Given the description of an element on the screen output the (x, y) to click on. 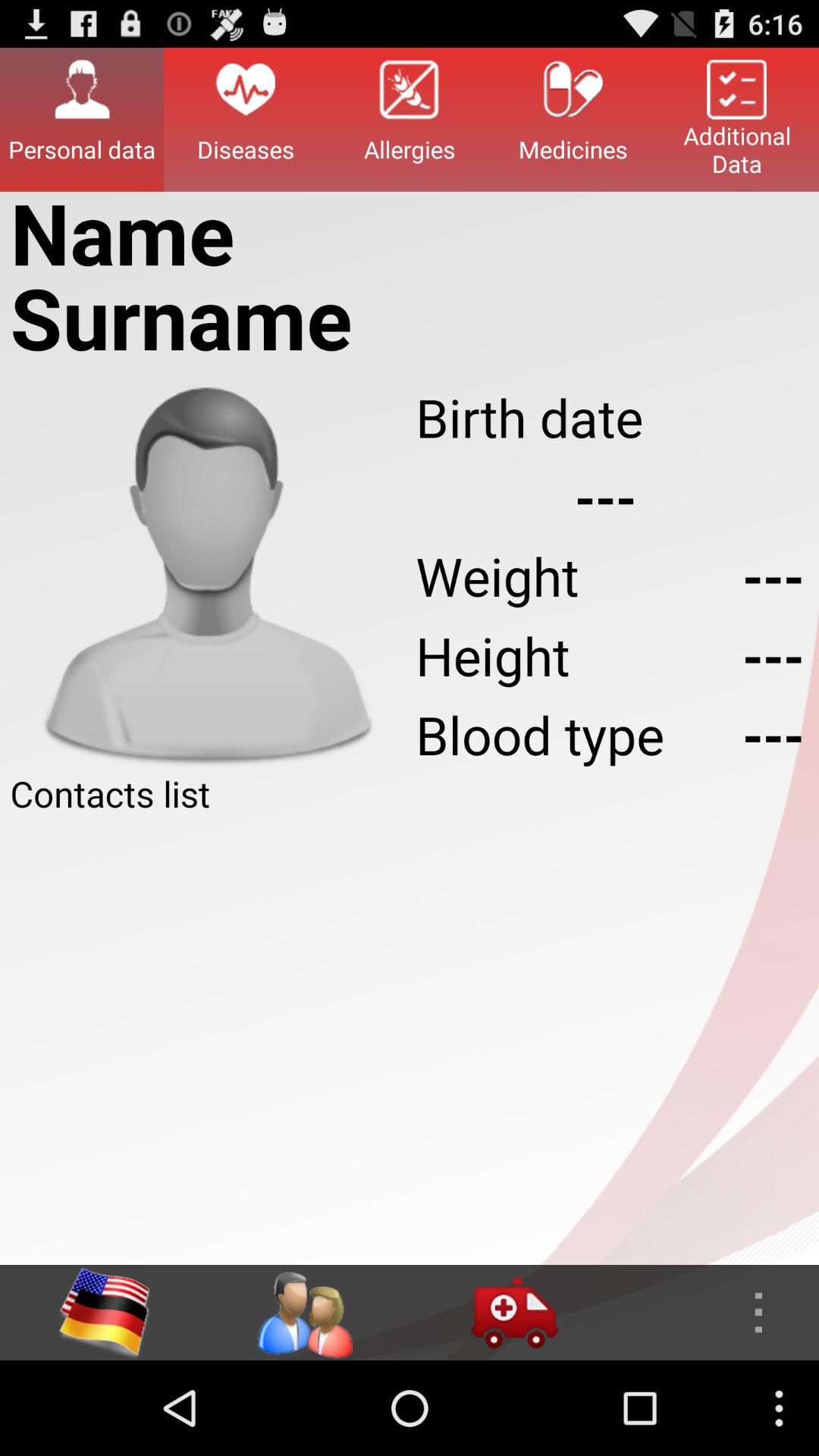
select item to the right of the allergies icon (573, 119)
